Given the description of an element on the screen output the (x, y) to click on. 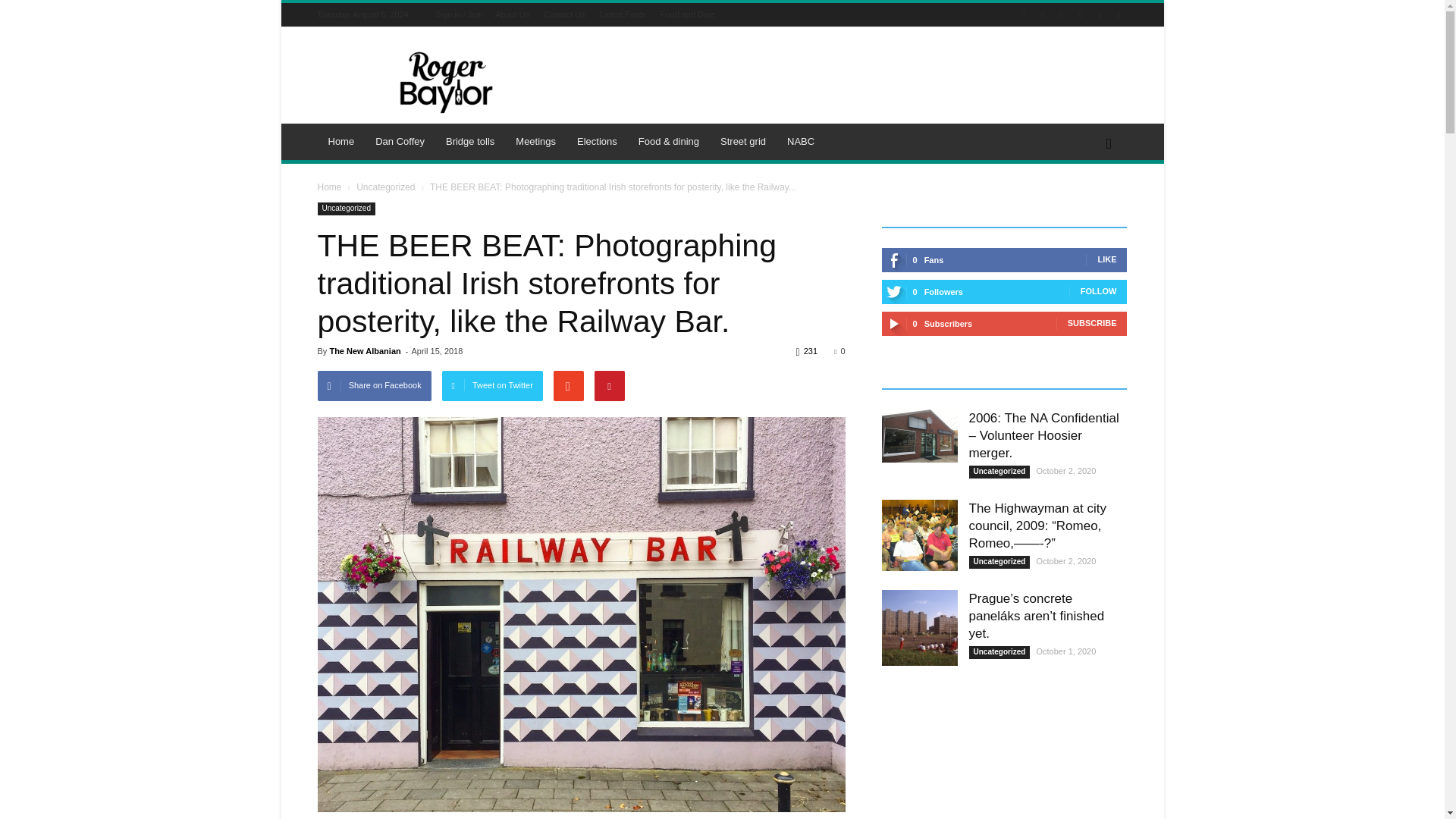
Vimeo (1099, 13)
VKontakte (1117, 13)
Home (341, 141)
Twitter (1080, 13)
Dan Coffey (400, 141)
Behance (1023, 13)
Latest Posts (622, 13)
Contact Us (564, 13)
Facebook (1042, 13)
About Us (512, 13)
View all posts in Uncategorized (385, 186)
Instagram (1061, 13)
Food and Dine (686, 13)
